Given the description of an element on the screen output the (x, y) to click on. 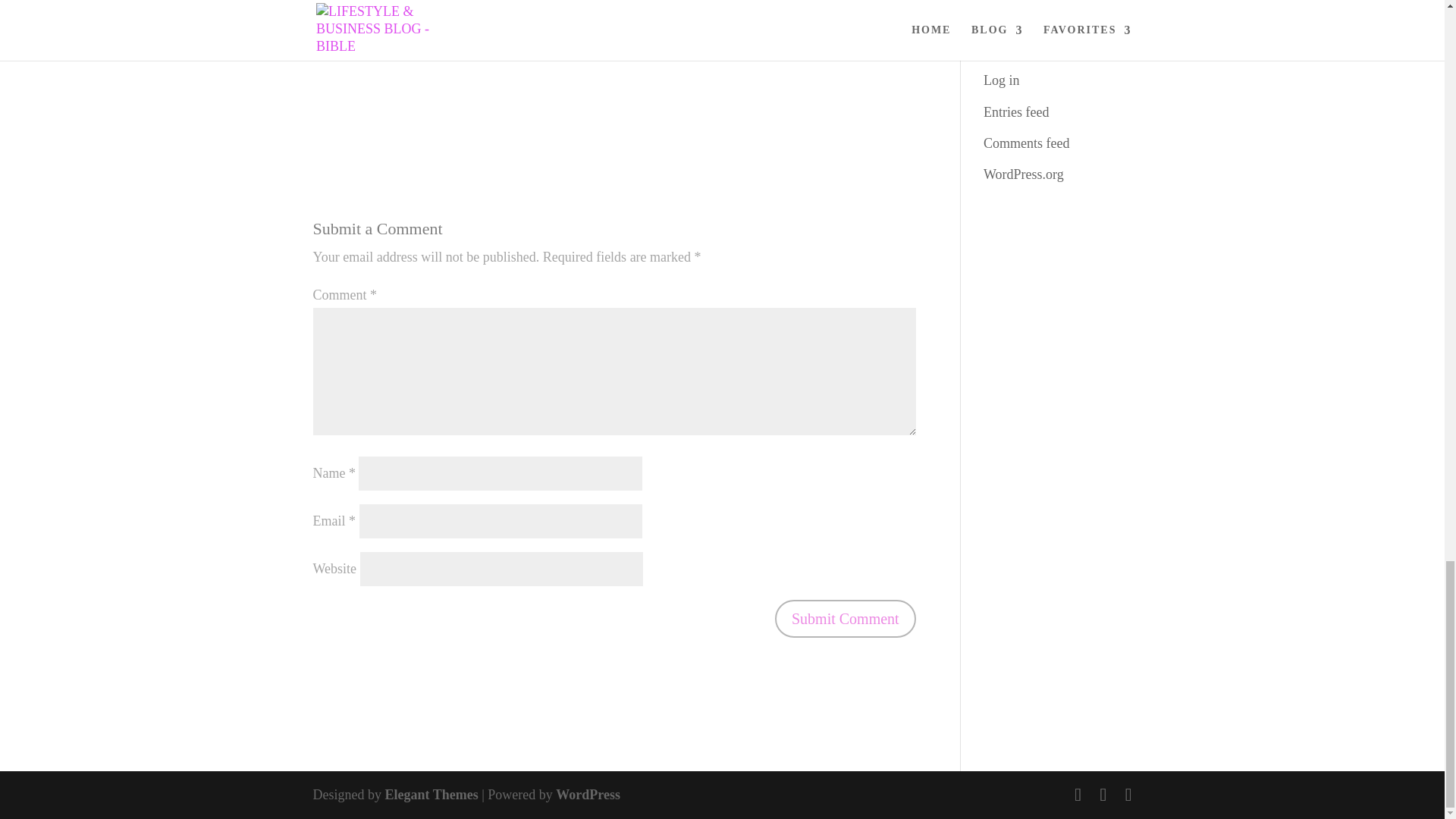
Submit Comment (844, 618)
Premium WordPress Themes (430, 794)
Submit Comment (844, 618)
